Given the description of an element on the screen output the (x, y) to click on. 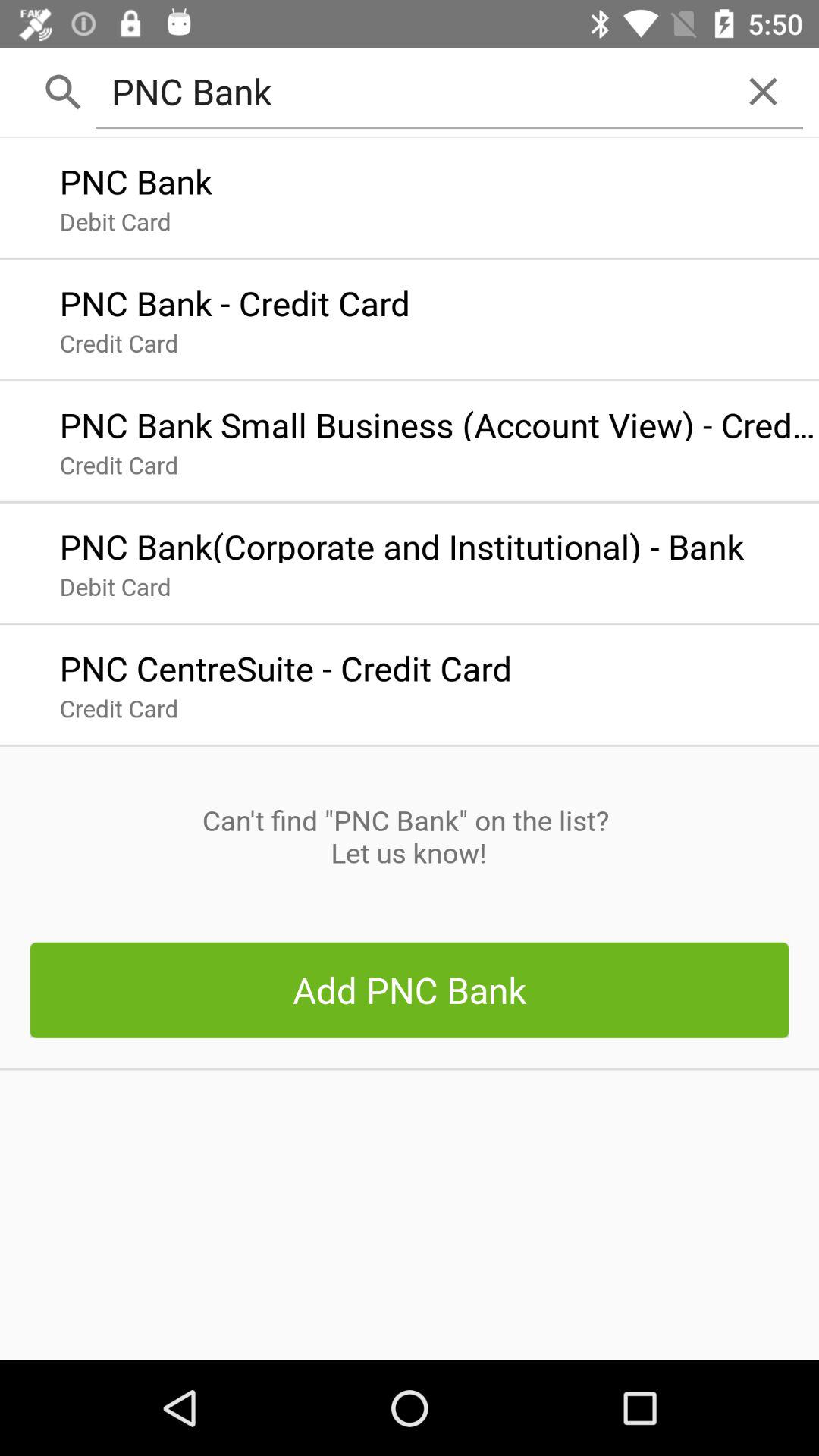
turn on the item at the top right corner (763, 91)
